Given the description of an element on the screen output the (x, y) to click on. 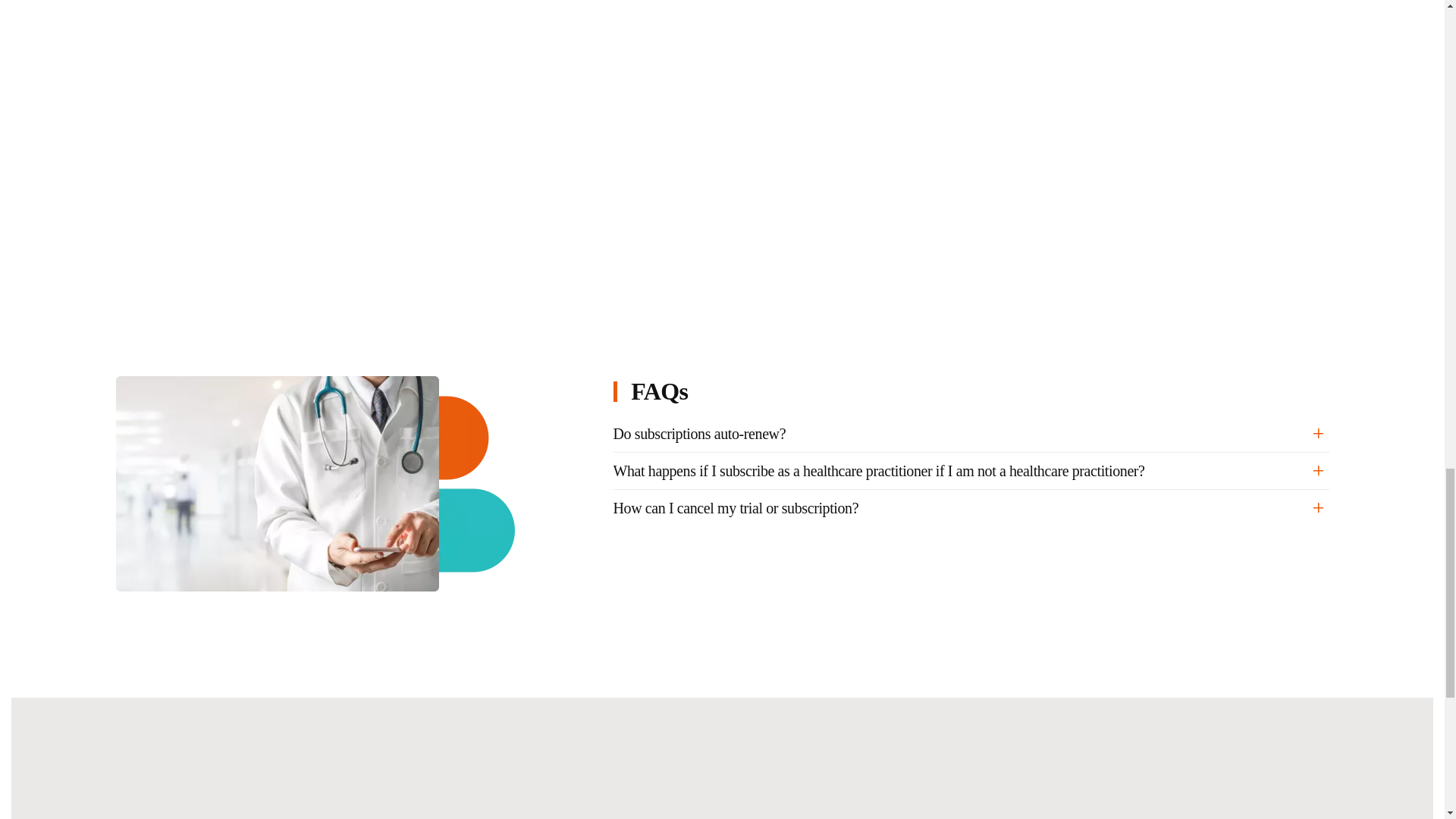
Do subscriptions auto-renew? (969, 433)
How can I cancel my trial or subscription? (969, 507)
